Given the description of an element on the screen output the (x, y) to click on. 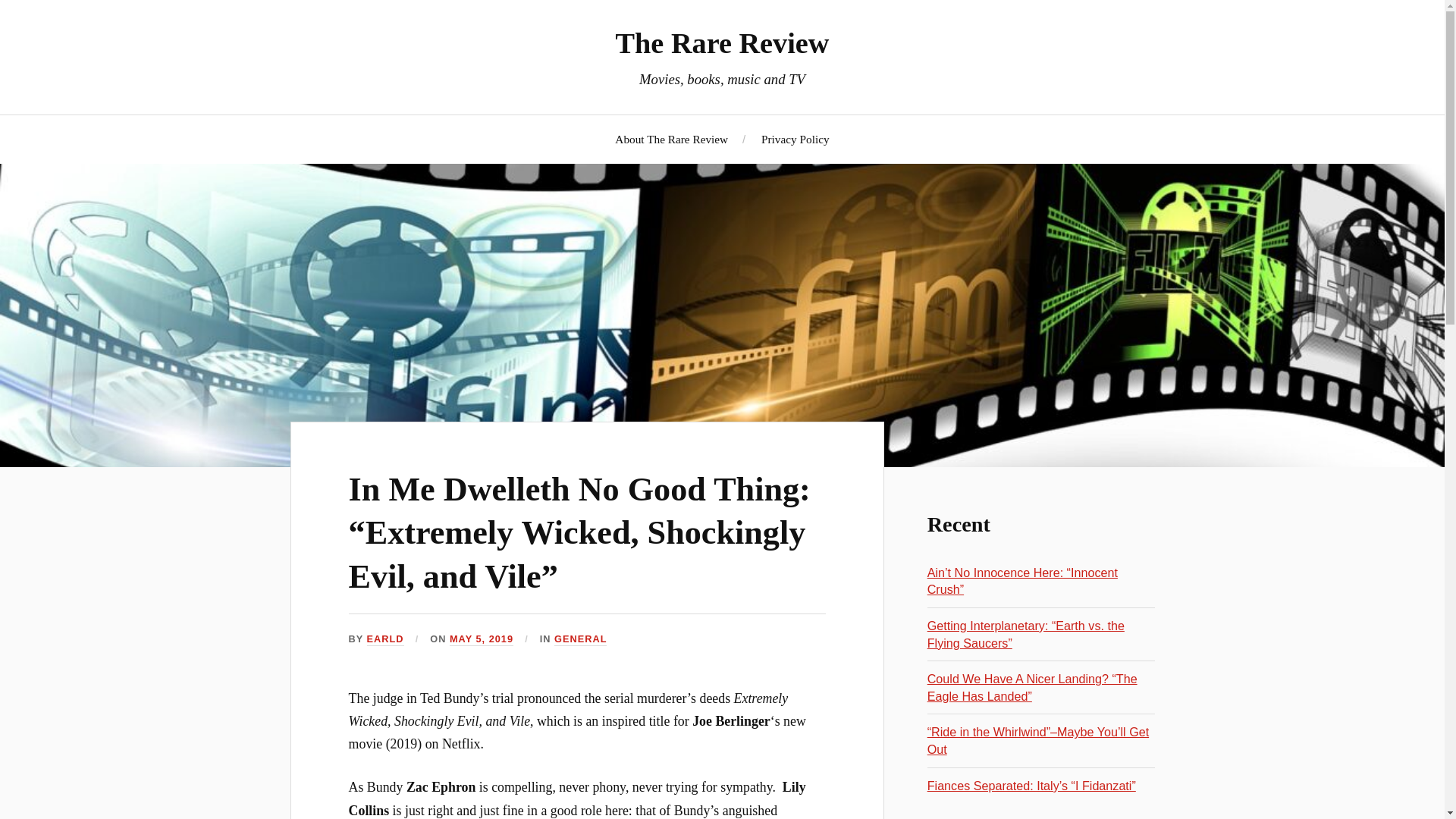
EARLD (385, 639)
Privacy Policy (795, 138)
Posts by EarlD (385, 639)
The Rare Review (722, 42)
About The Rare Review (671, 138)
MAY 5, 2019 (481, 639)
GENERAL (580, 639)
